Given the description of an element on the screen output the (x, y) to click on. 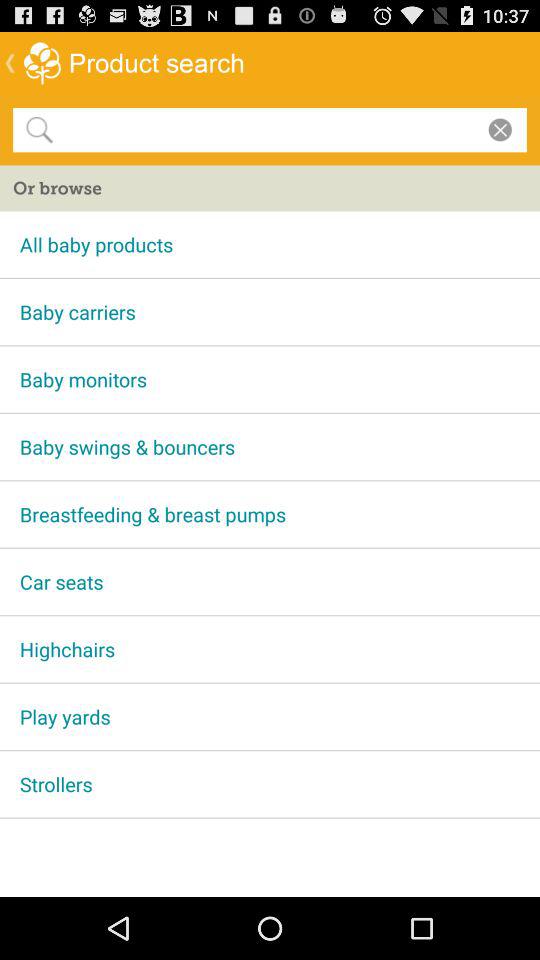
enter a search term (266, 129)
